Given the description of an element on the screen output the (x, y) to click on. 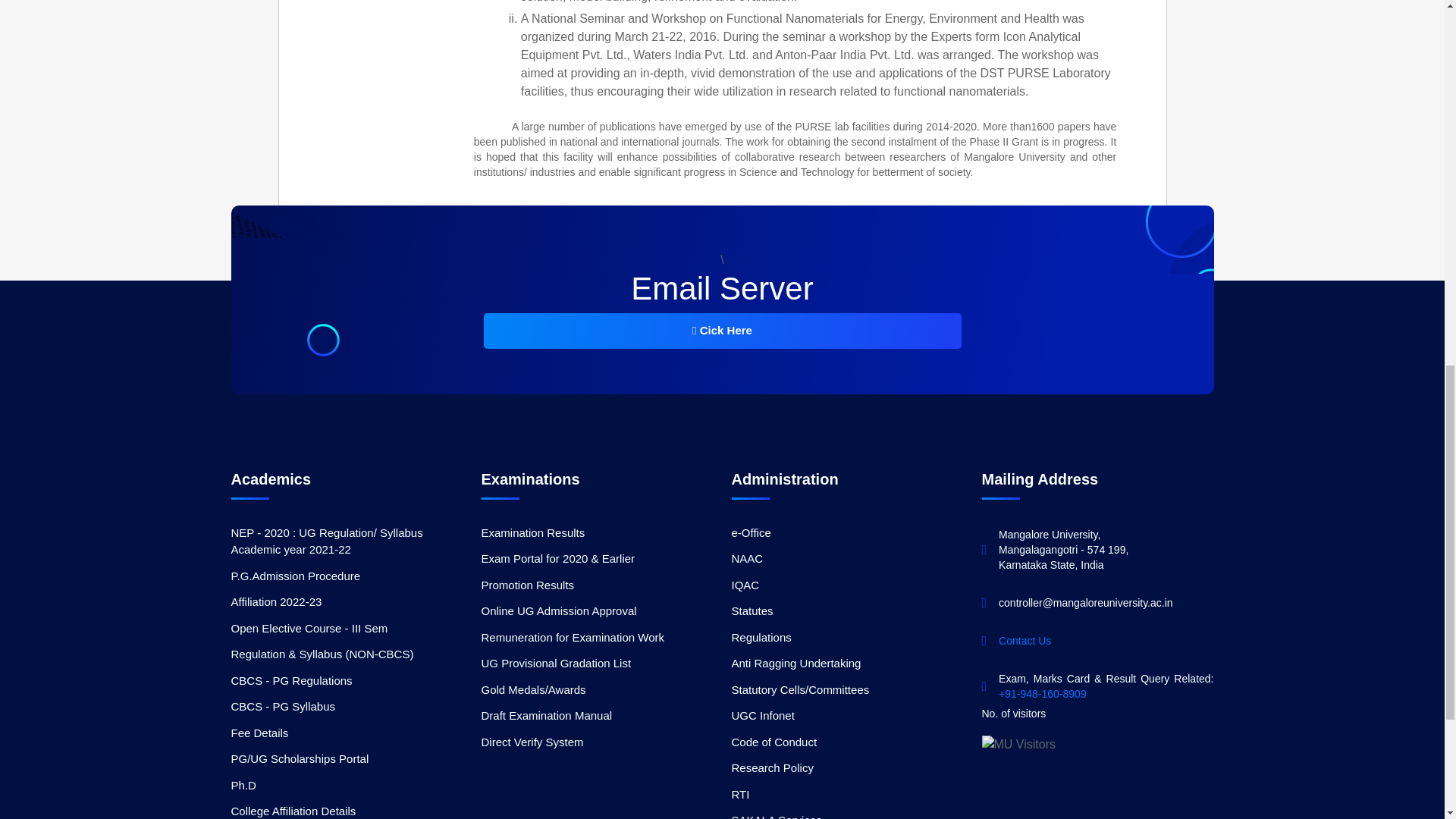
MU Visitors (1018, 744)
